Given the description of an element on the screen output the (x, y) to click on. 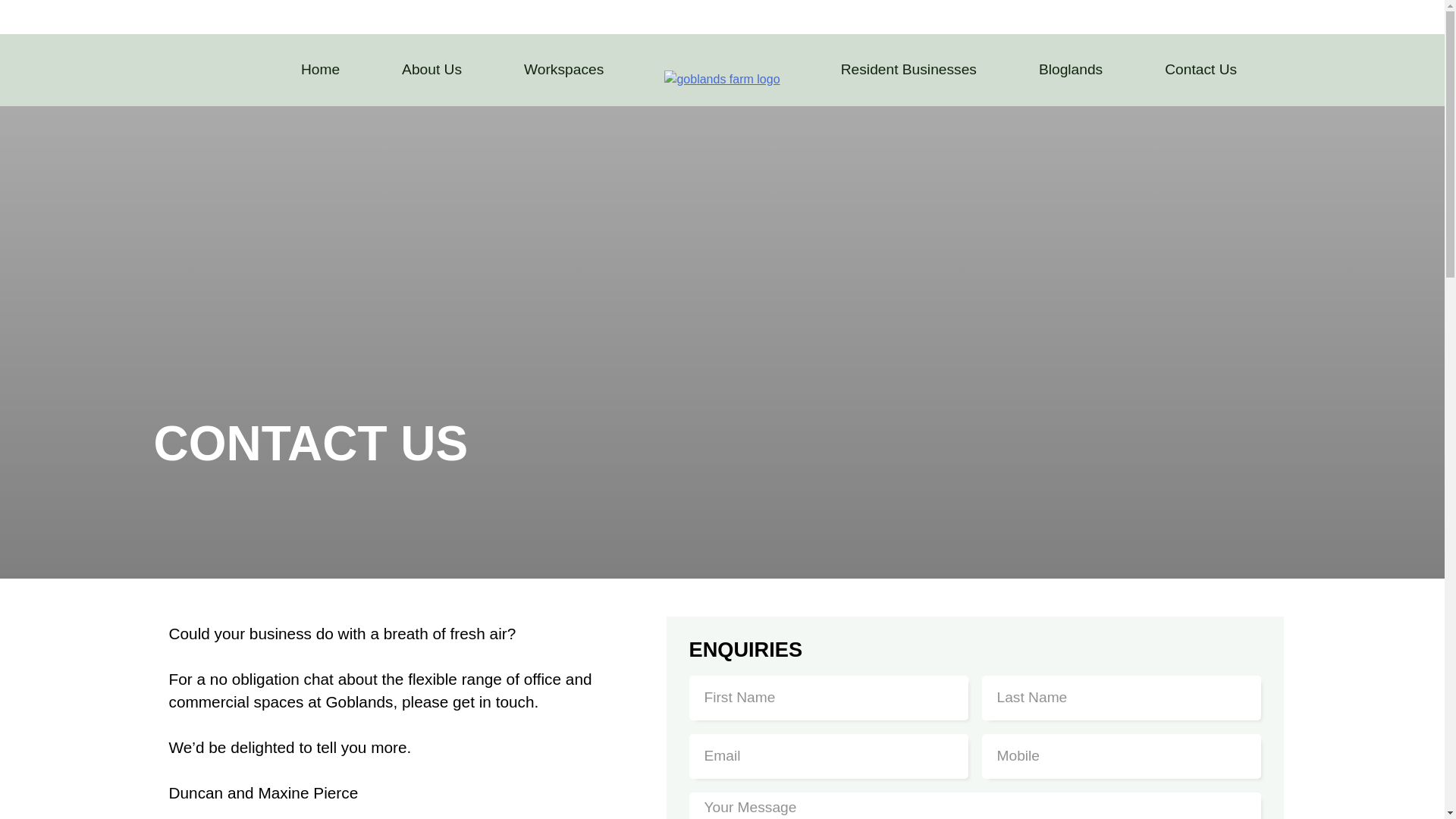
Resident Businesses (908, 69)
About Us (431, 69)
Workspaces (564, 69)
Bloglands (1070, 69)
Home (320, 69)
Contact Us (1200, 69)
